Given the description of an element on the screen output the (x, y) to click on. 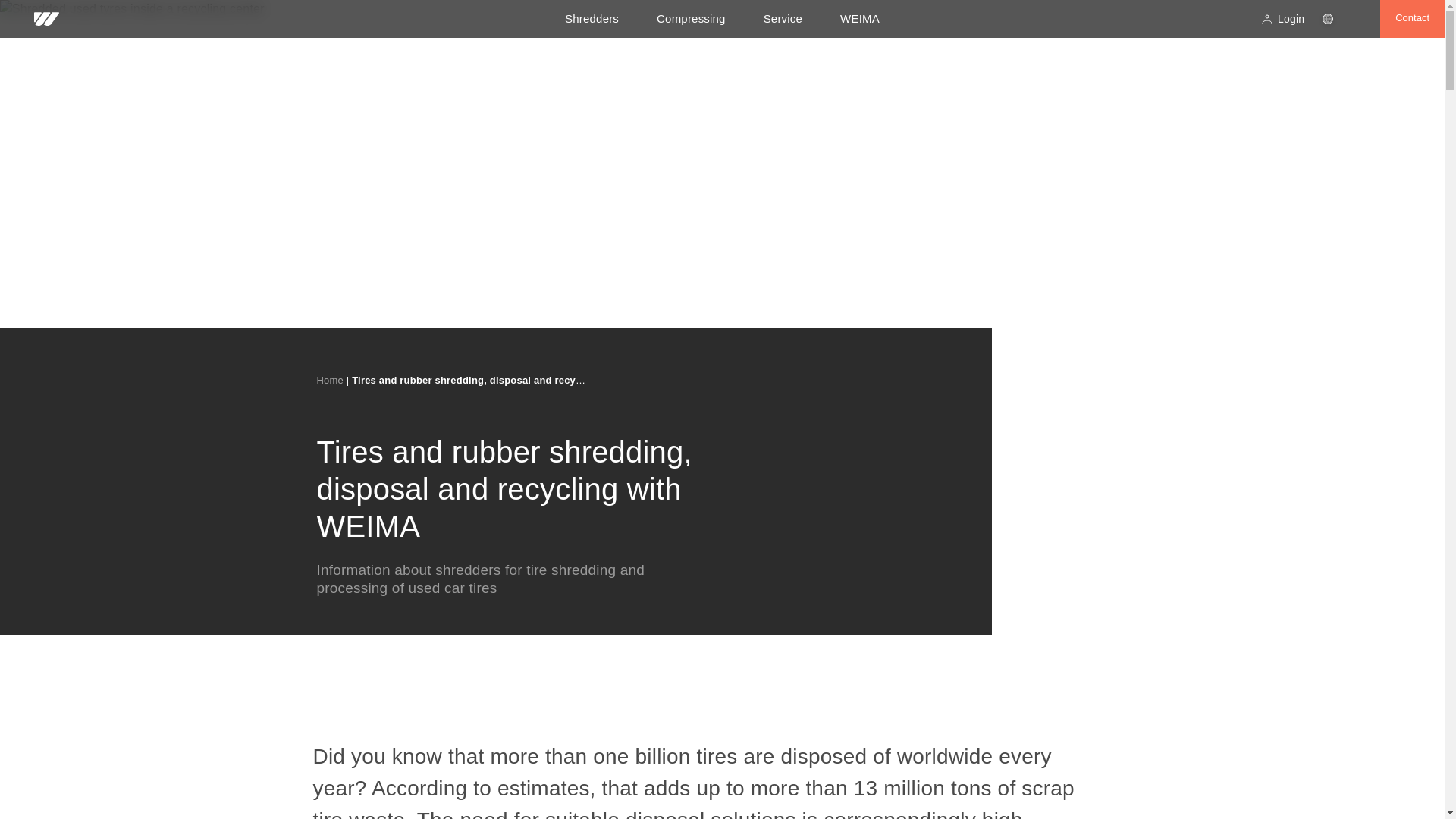
Shredders (591, 18)
Compressing (690, 18)
Login (1282, 18)
Service (782, 18)
WEIMA (859, 18)
